Given the description of an element on the screen output the (x, y) to click on. 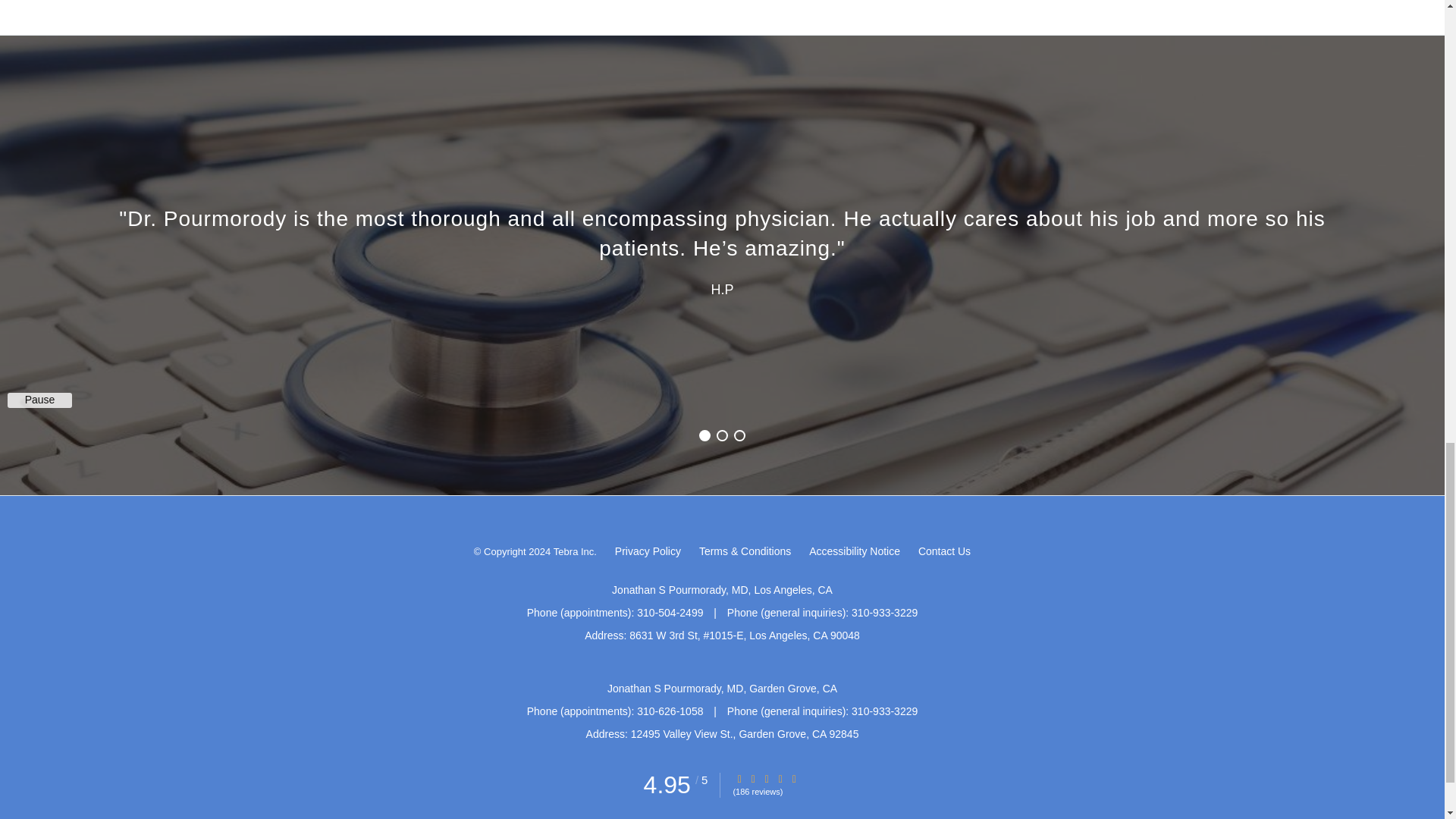
Star Rating (766, 778)
Star Rating (794, 778)
Star Rating (738, 778)
Star Rating (780, 778)
Star Rating (753, 778)
